Given the description of an element on the screen output the (x, y) to click on. 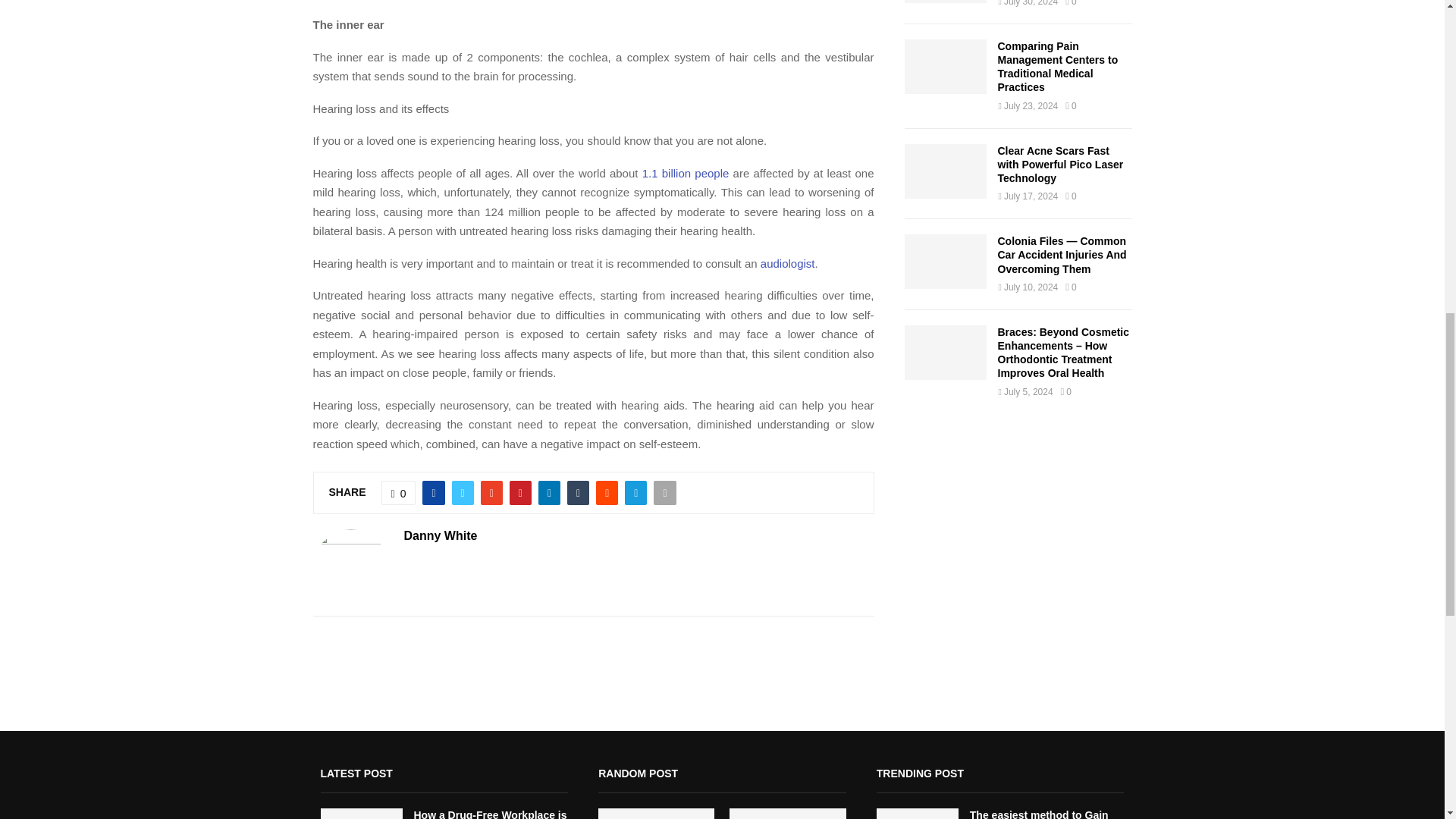
1.1 billion people (685, 173)
Posts by Danny White (440, 536)
Danny White (440, 536)
Clear Acne Scars Fast with Powerful Pico Laser Technology (944, 171)
Like (398, 492)
How a Drug-Free Workplace is Good for Your Business? (944, 1)
audiologist (787, 263)
0 (398, 492)
